Given the description of an element on the screen output the (x, y) to click on. 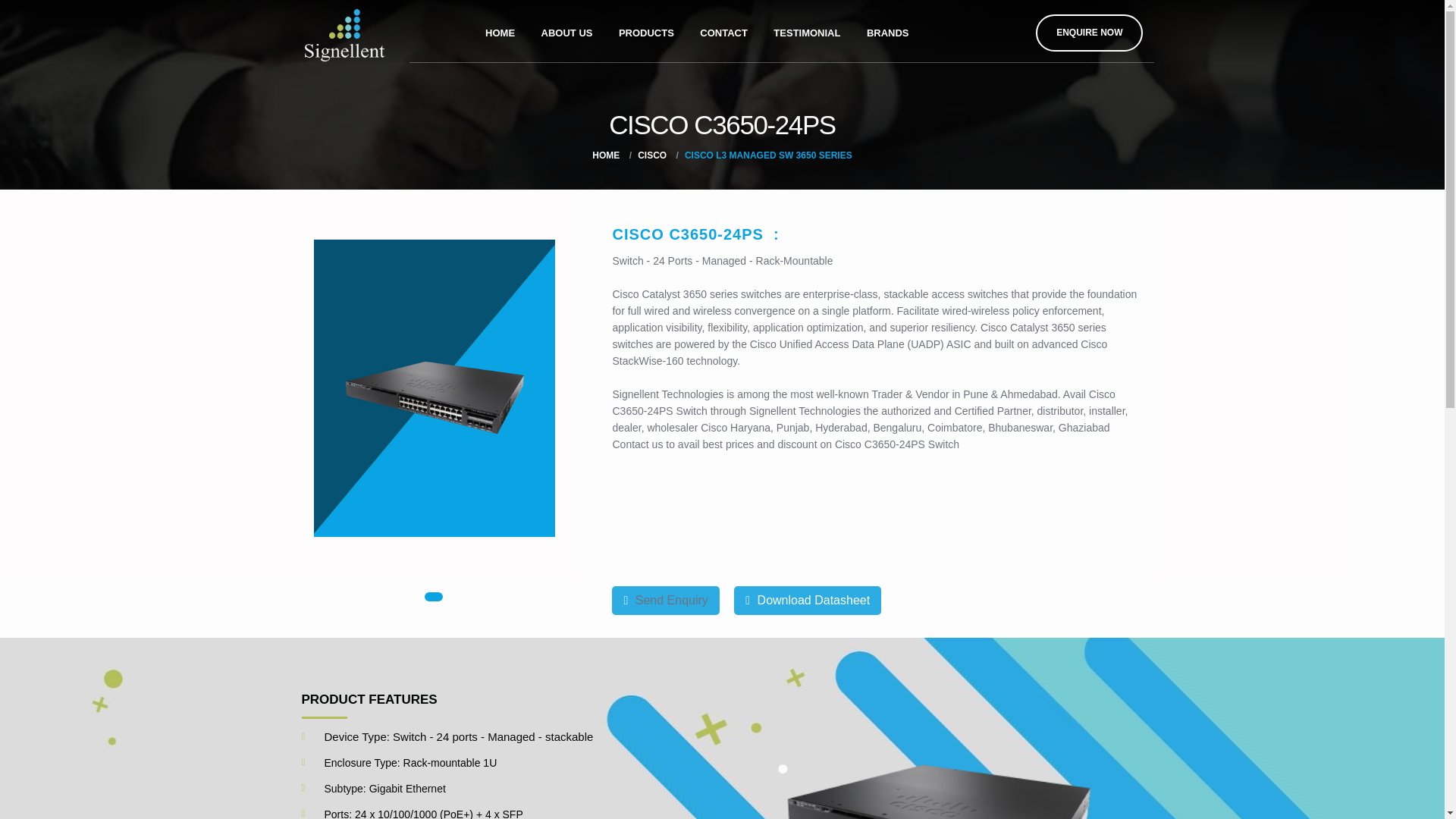
CISCO L3 MANAGED SW 3650 SERIES (767, 155)
PRODUCTS (646, 30)
BRANDS (888, 30)
TESTIMONIAL (806, 30)
ENQUIRE NOW (1088, 32)
Send Enquiry (665, 600)
Download Datasheet (807, 600)
HOME (606, 155)
CONTACT (723, 30)
CISCO (651, 155)
